Given the description of an element on the screen output the (x, y) to click on. 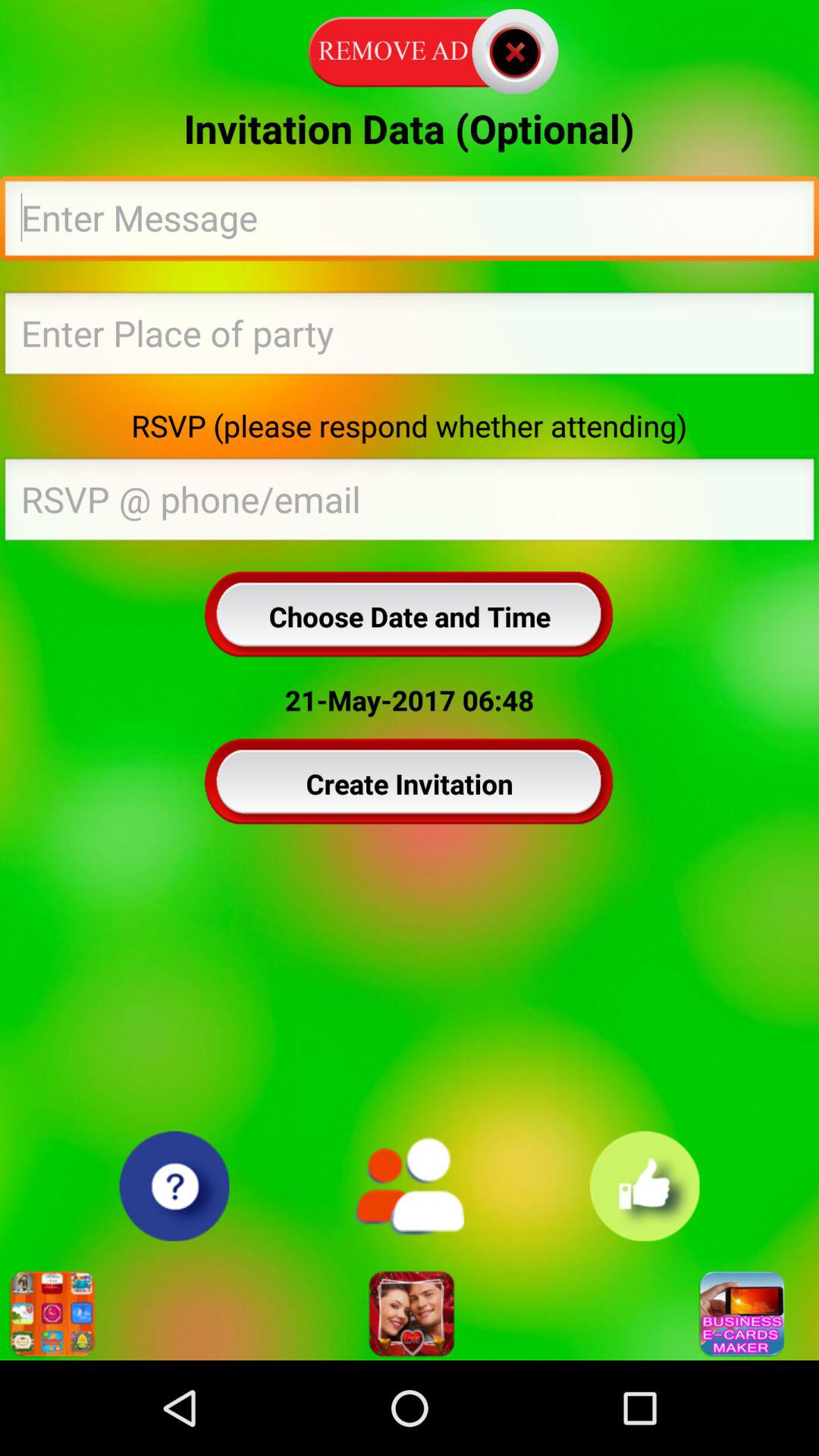
flip until create invitation button (409, 783)
